Given the description of an element on the screen output the (x, y) to click on. 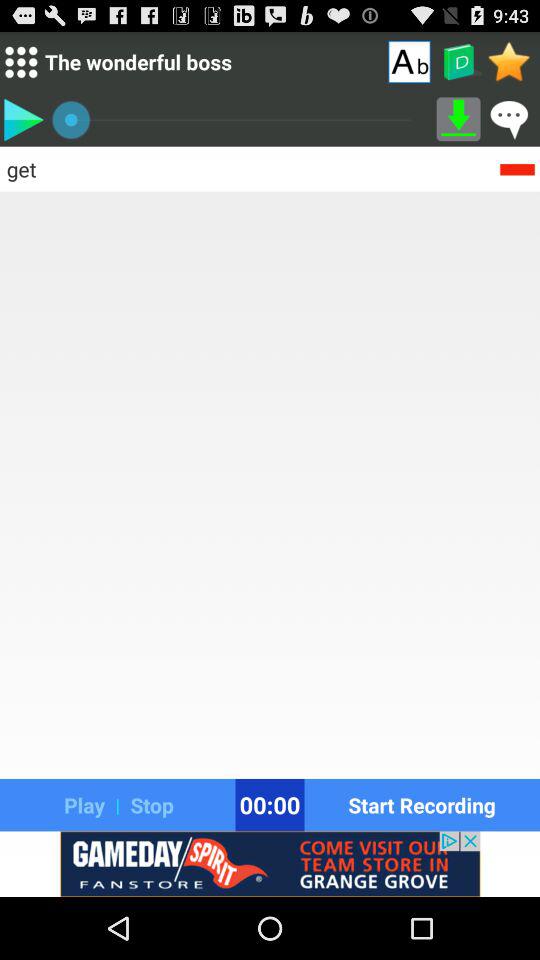
click the menu option (20, 61)
